Given the description of an element on the screen output the (x, y) to click on. 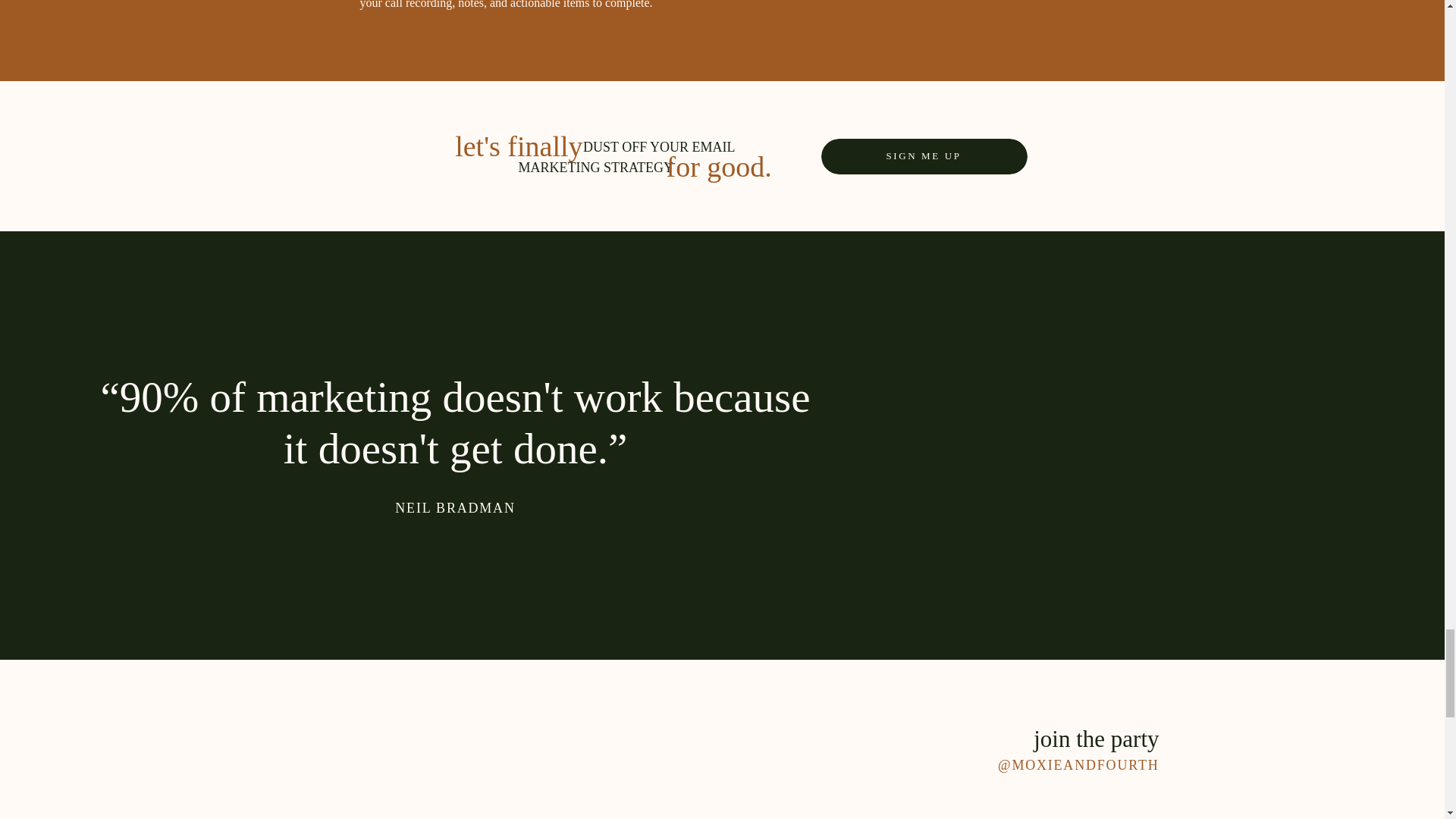
SIGN ME UP (924, 160)
